Given the description of an element on the screen output the (x, y) to click on. 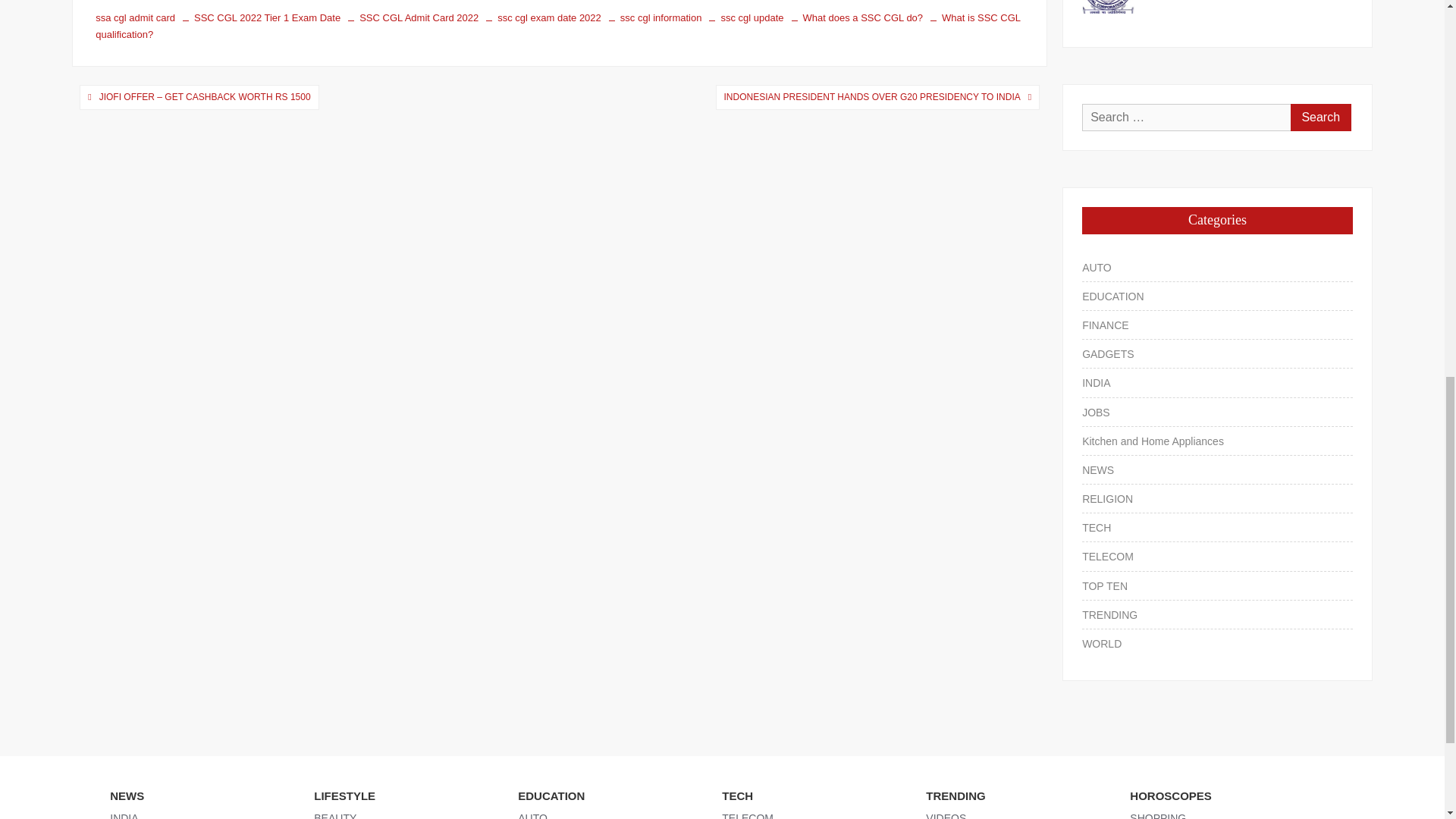
Search (1320, 117)
Search (1320, 117)
